Given the description of an element on the screen output the (x, y) to click on. 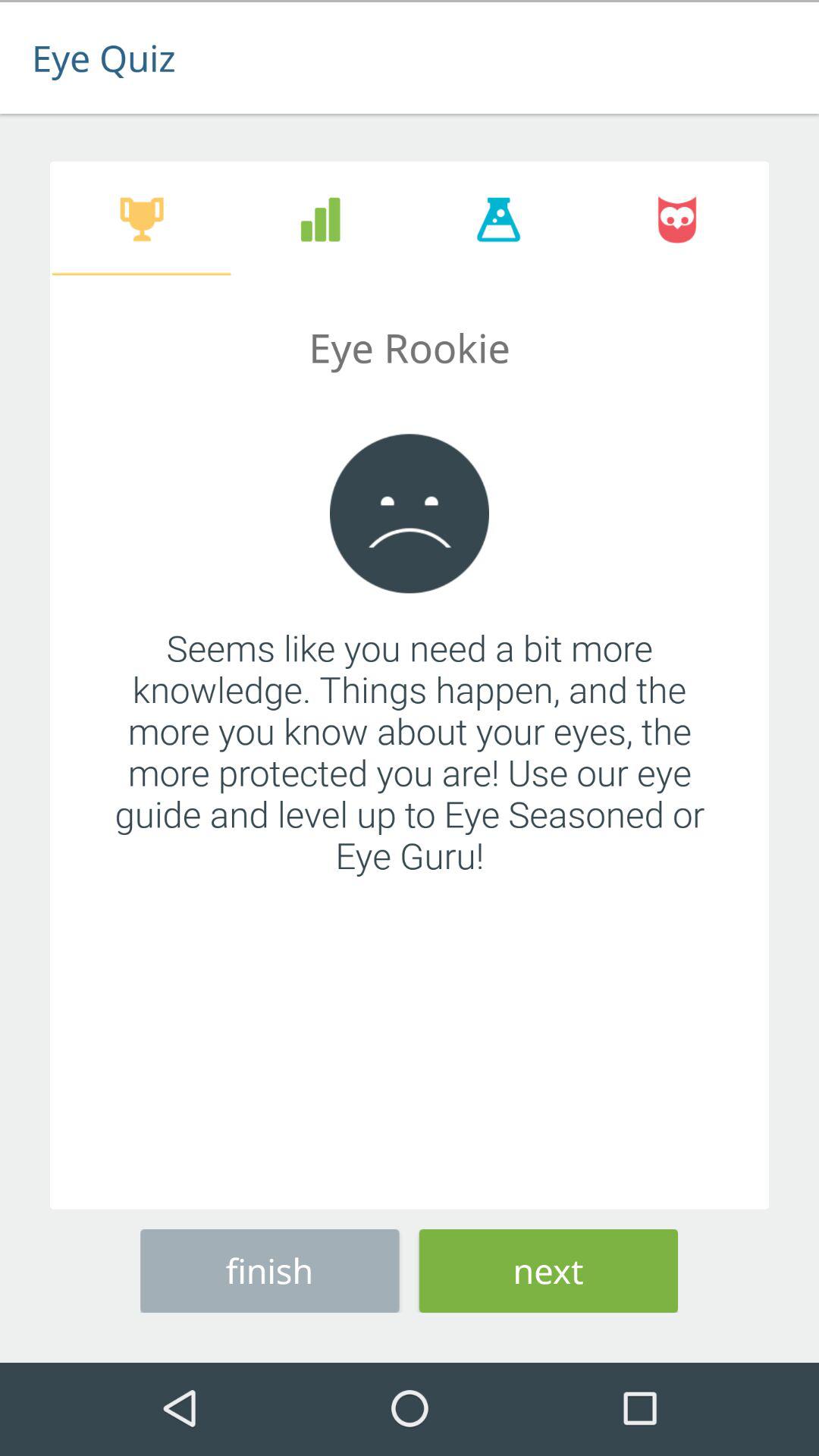
jump until the finish (269, 1268)
